Given the description of an element on the screen output the (x, y) to click on. 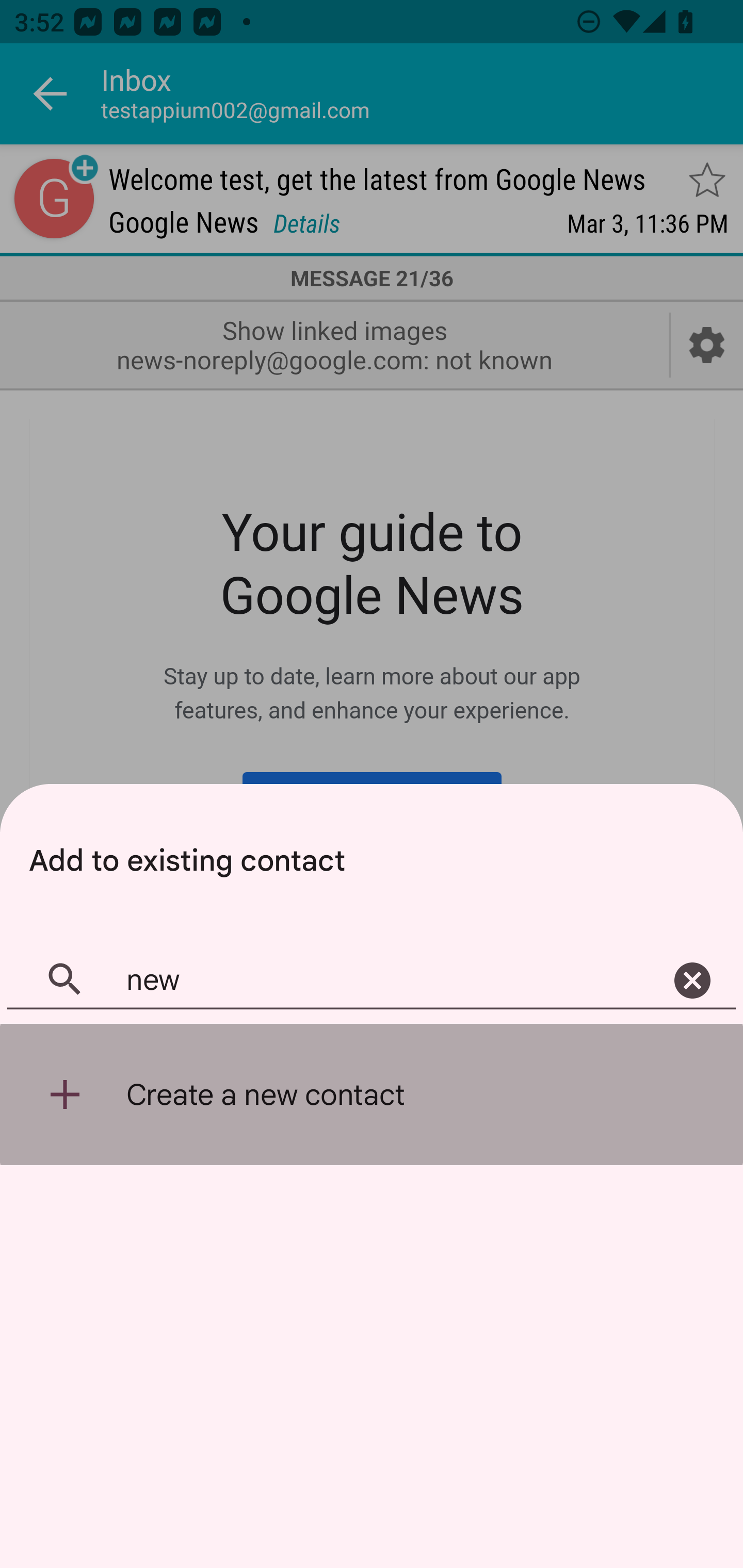
new (371, 980)
Clear search (692, 980)
Create a new contact (371, 1094)
